Given the description of an element on the screen output the (x, y) to click on. 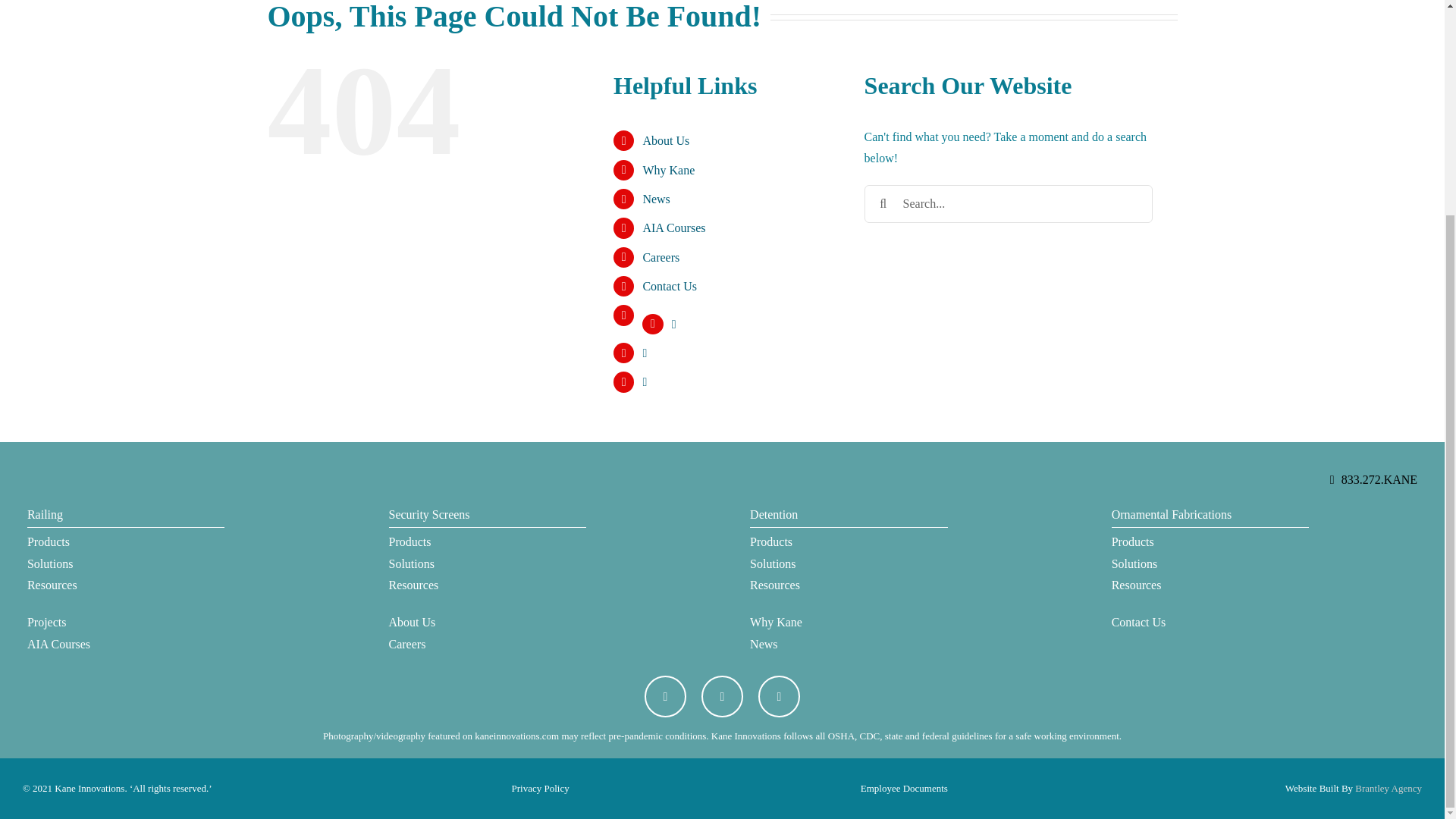
X (665, 696)
About Us (487, 622)
Resources (125, 585)
AIA Courses (125, 644)
News (655, 198)
Why Kane (668, 169)
Products (125, 542)
Solutions (848, 564)
Contact Us (669, 286)
News (848, 644)
